Given the description of an element on the screen output the (x, y) to click on. 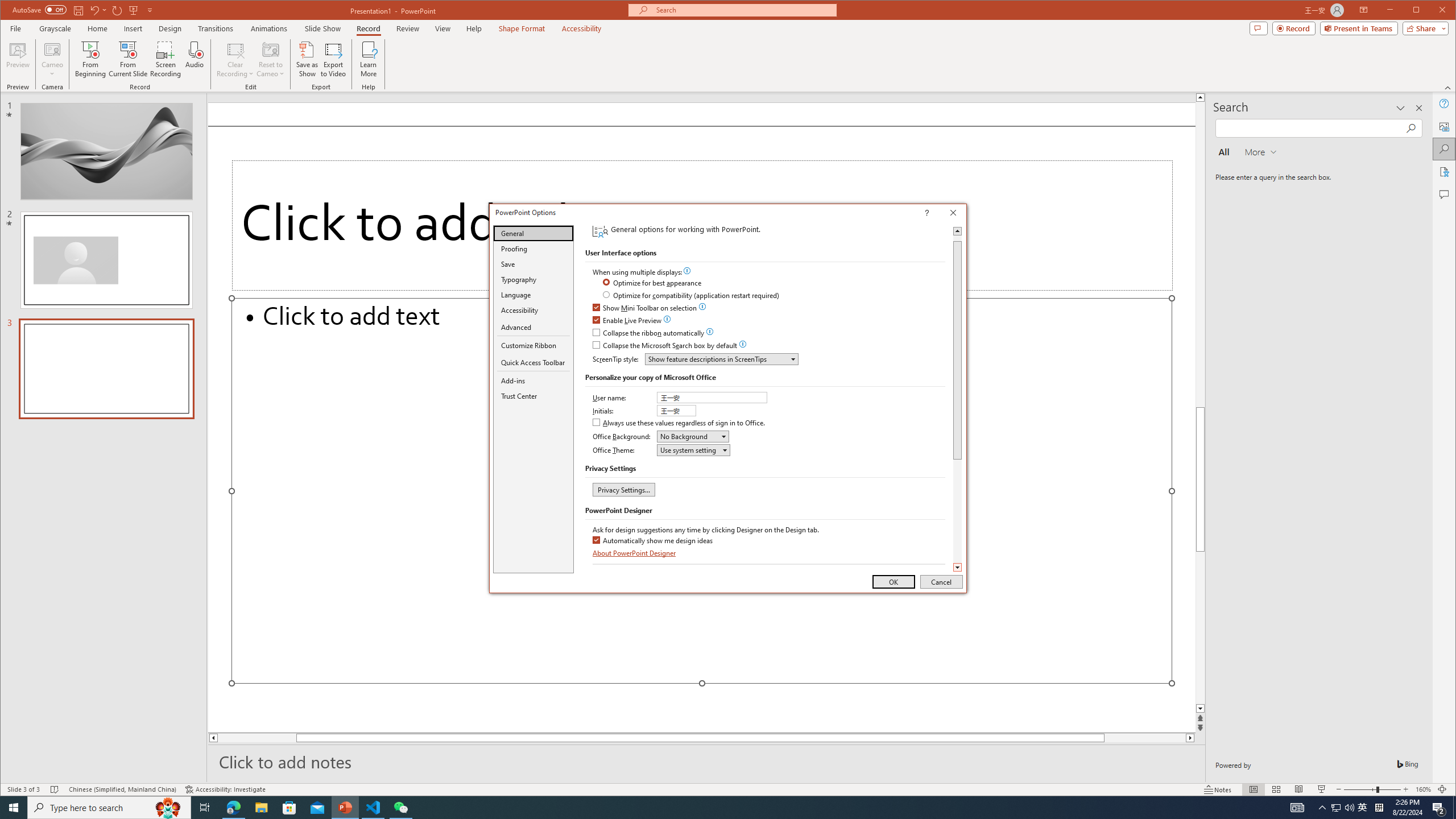
Customize Ribbon (533, 344)
Class: NetUIScrollBar (957, 399)
